Given the description of an element on the screen output the (x, y) to click on. 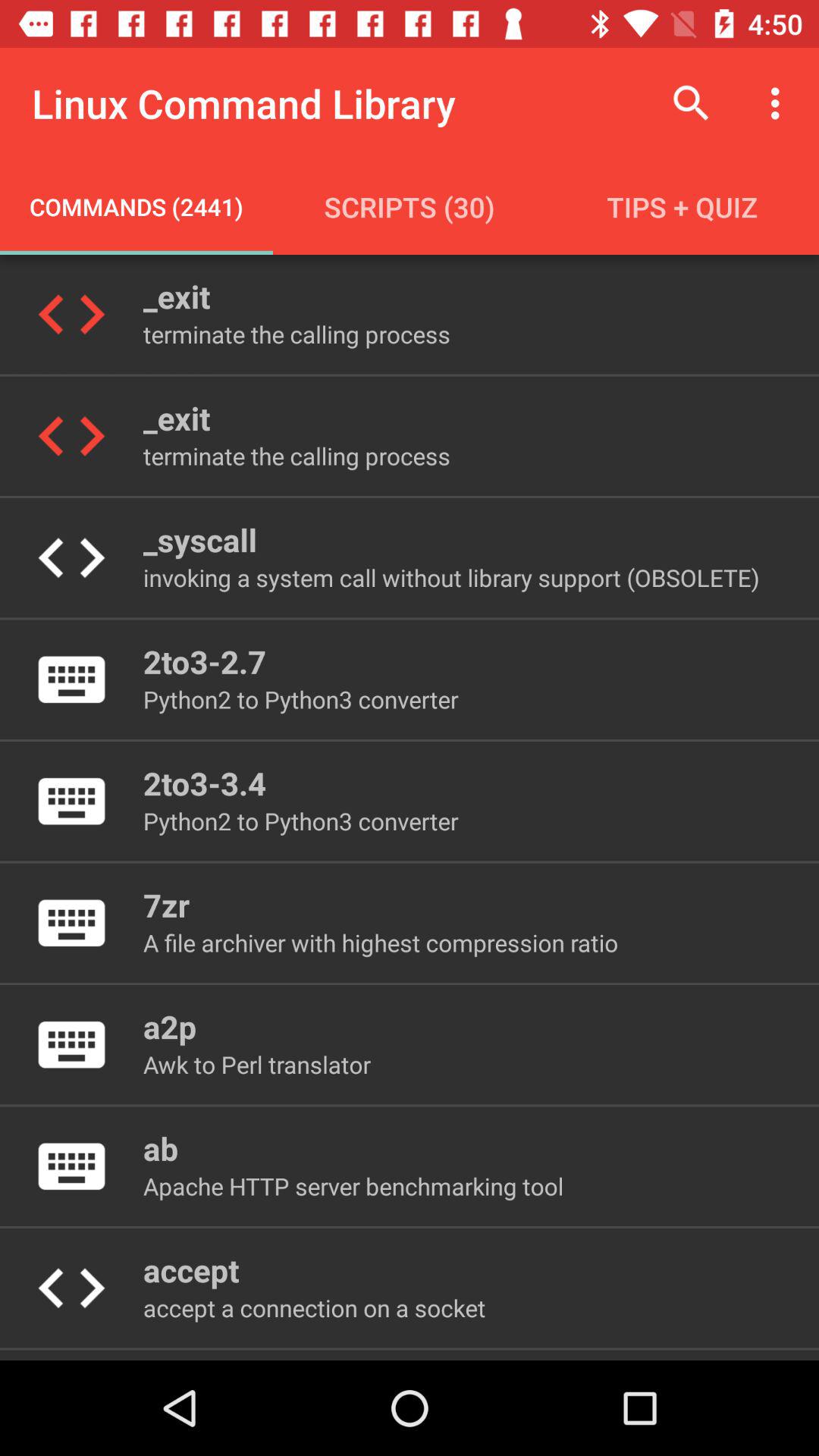
turn on item below the accept (314, 1307)
